Given the description of an element on the screen output the (x, y) to click on. 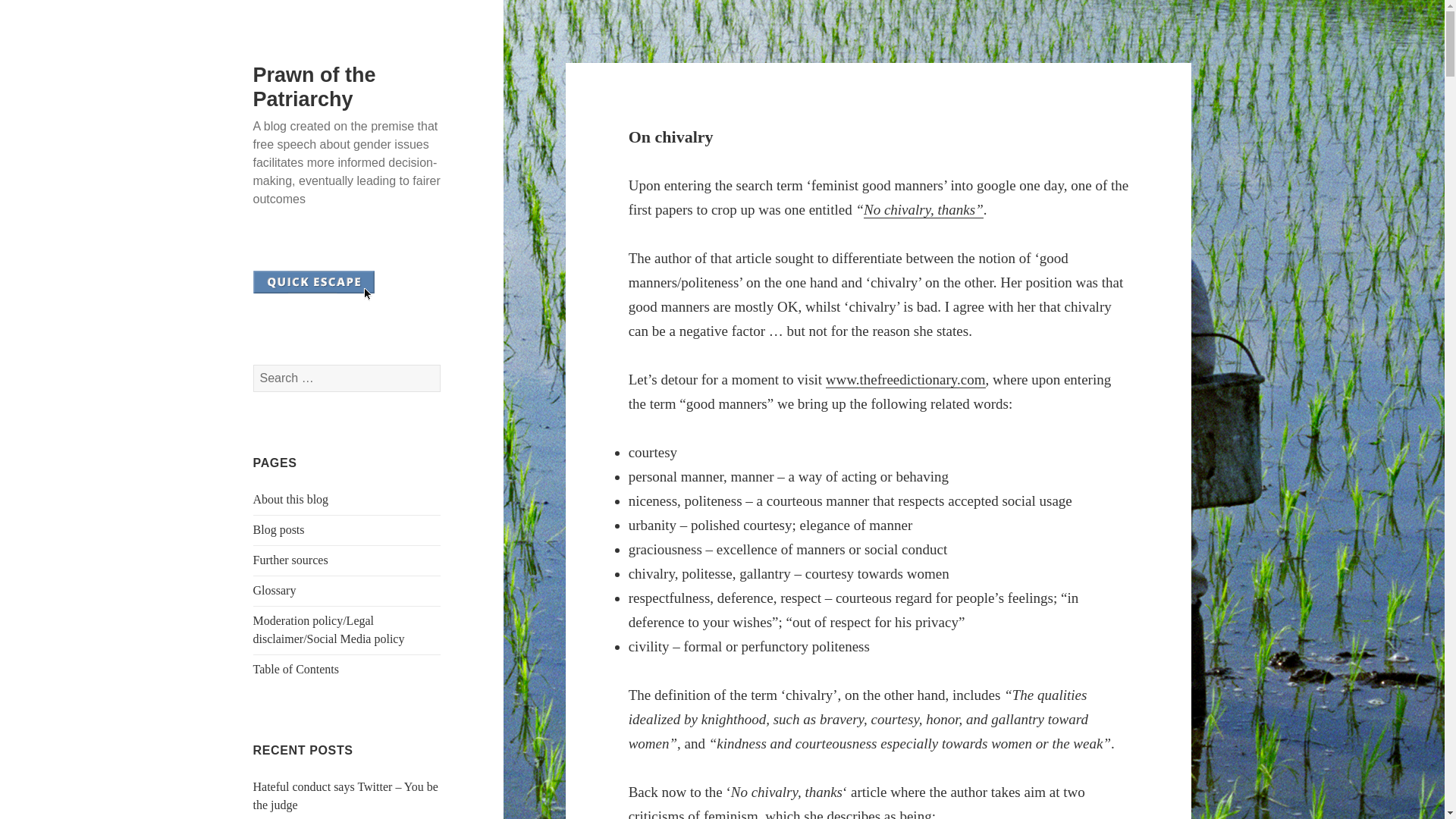
Table of Contents (296, 668)
Glossary (275, 590)
Prawn of the Patriarchy (314, 86)
About this blog (291, 499)
www.thefreedictionary.com (905, 379)
Further sources (291, 559)
Blog posts (278, 529)
